Given the description of an element on the screen output the (x, y) to click on. 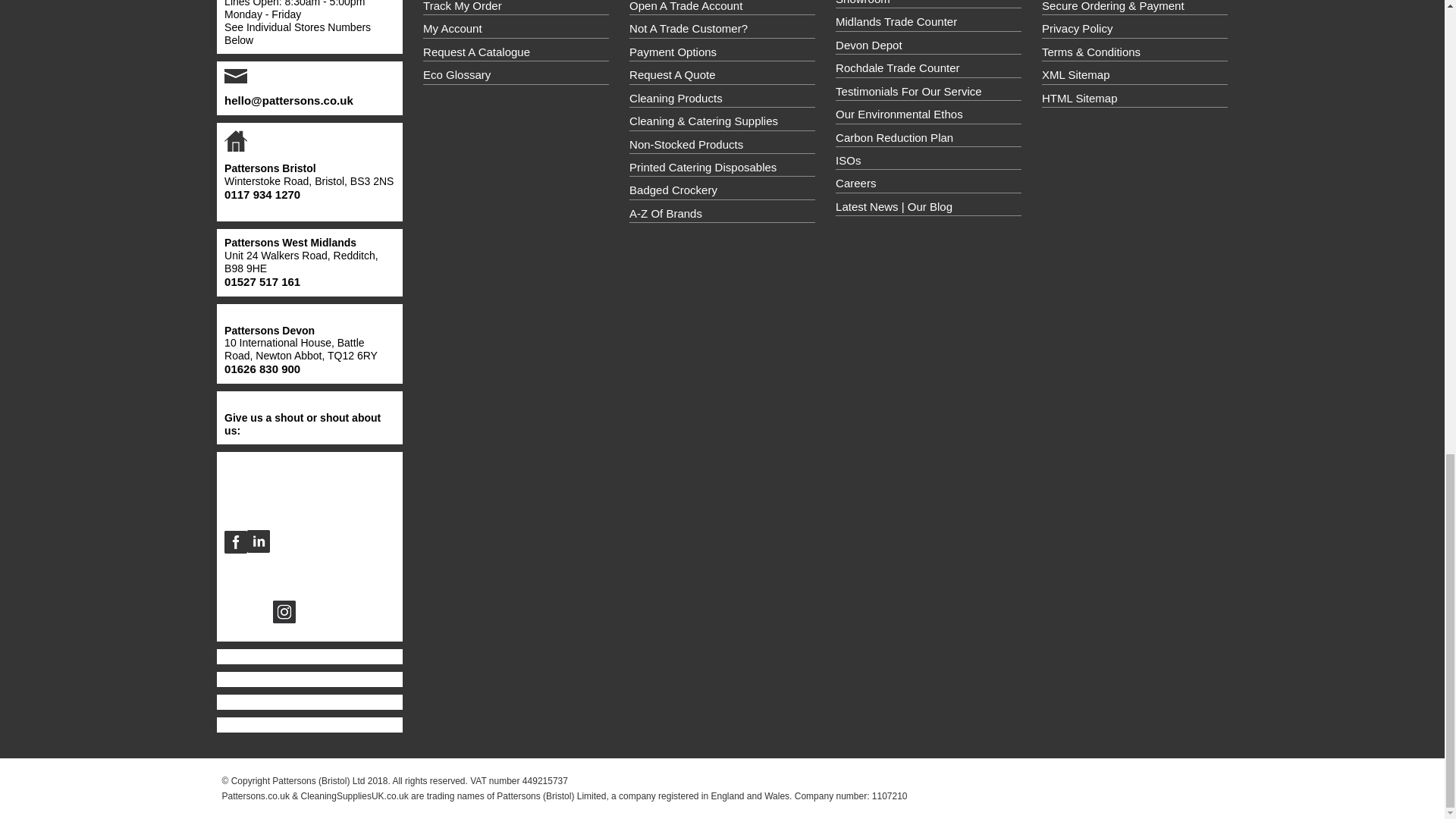
Say Hello (288, 100)
Call Pattersons Bristol (261, 194)
Call Pattersons West Midlands (261, 282)
